Given the description of an element on the screen output the (x, y) to click on. 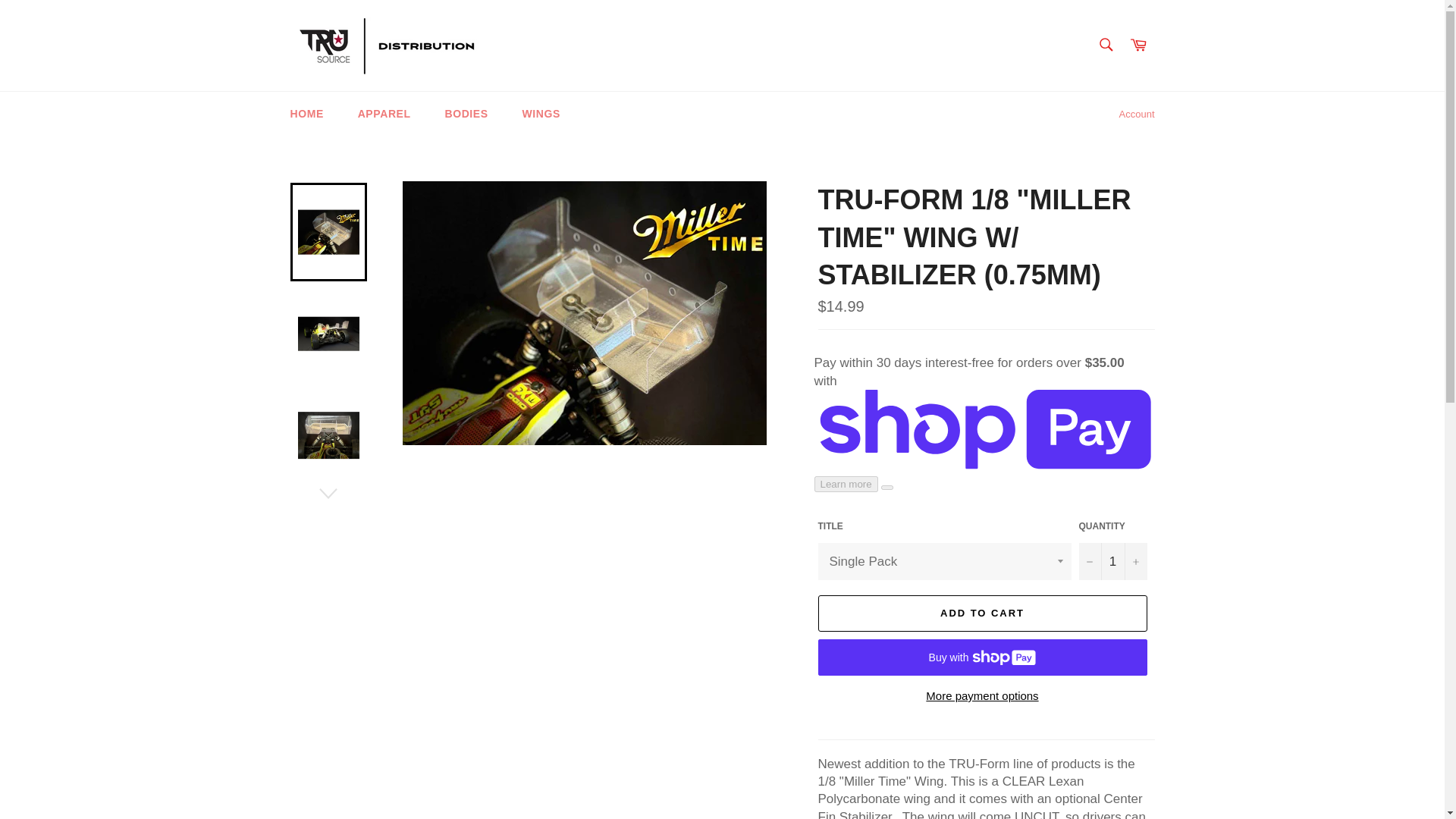
BODIES (465, 113)
More payment options (981, 696)
WINGS (540, 113)
APPAREL (384, 113)
HOME (306, 113)
1 (1112, 560)
ADD TO CART (981, 613)
Account (1136, 114)
Cart (1138, 45)
Search (1104, 44)
